Given the description of an element on the screen output the (x, y) to click on. 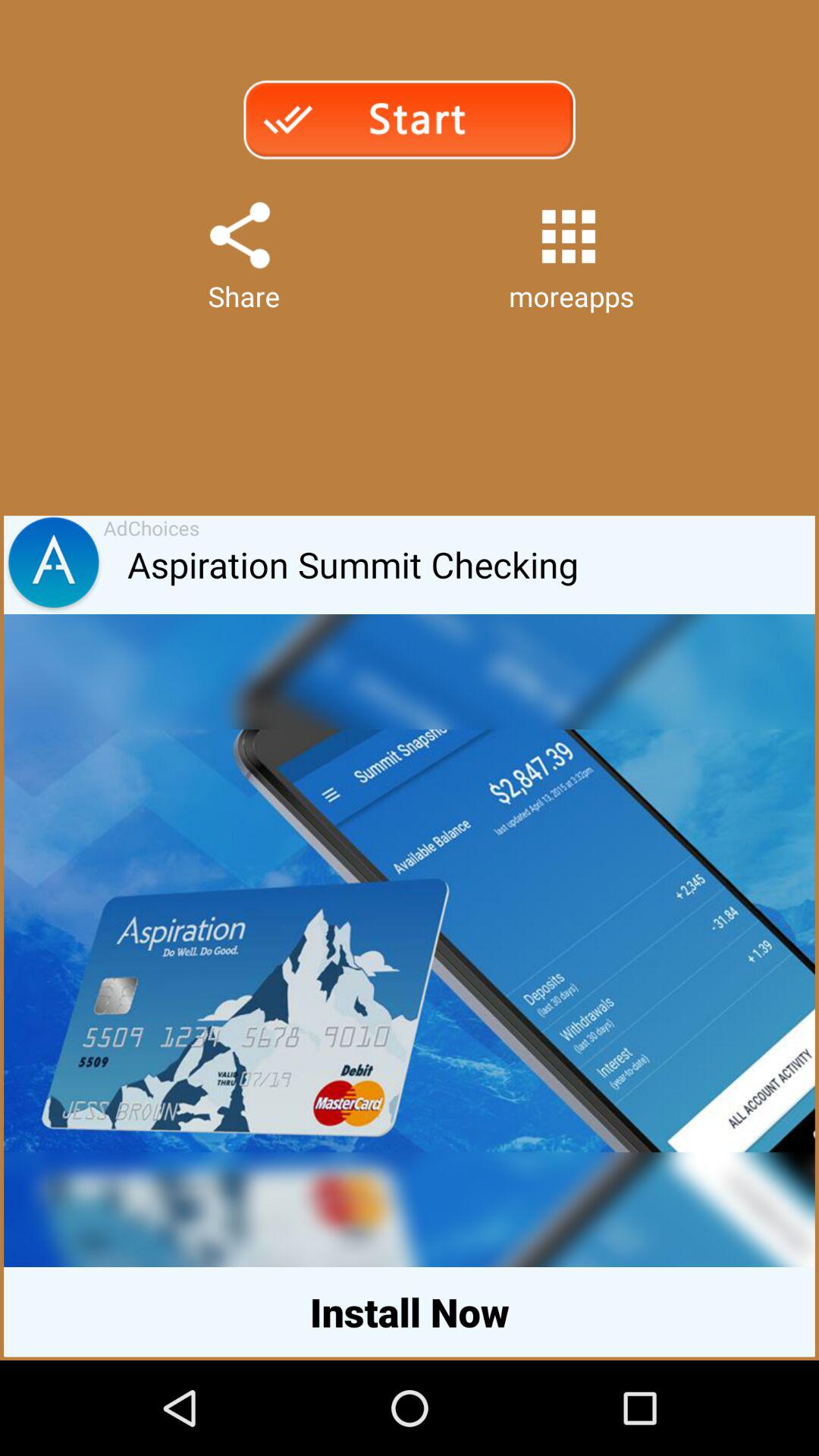
turn on the app to the left of adchoices (53, 564)
